Given the description of an element on the screen output the (x, y) to click on. 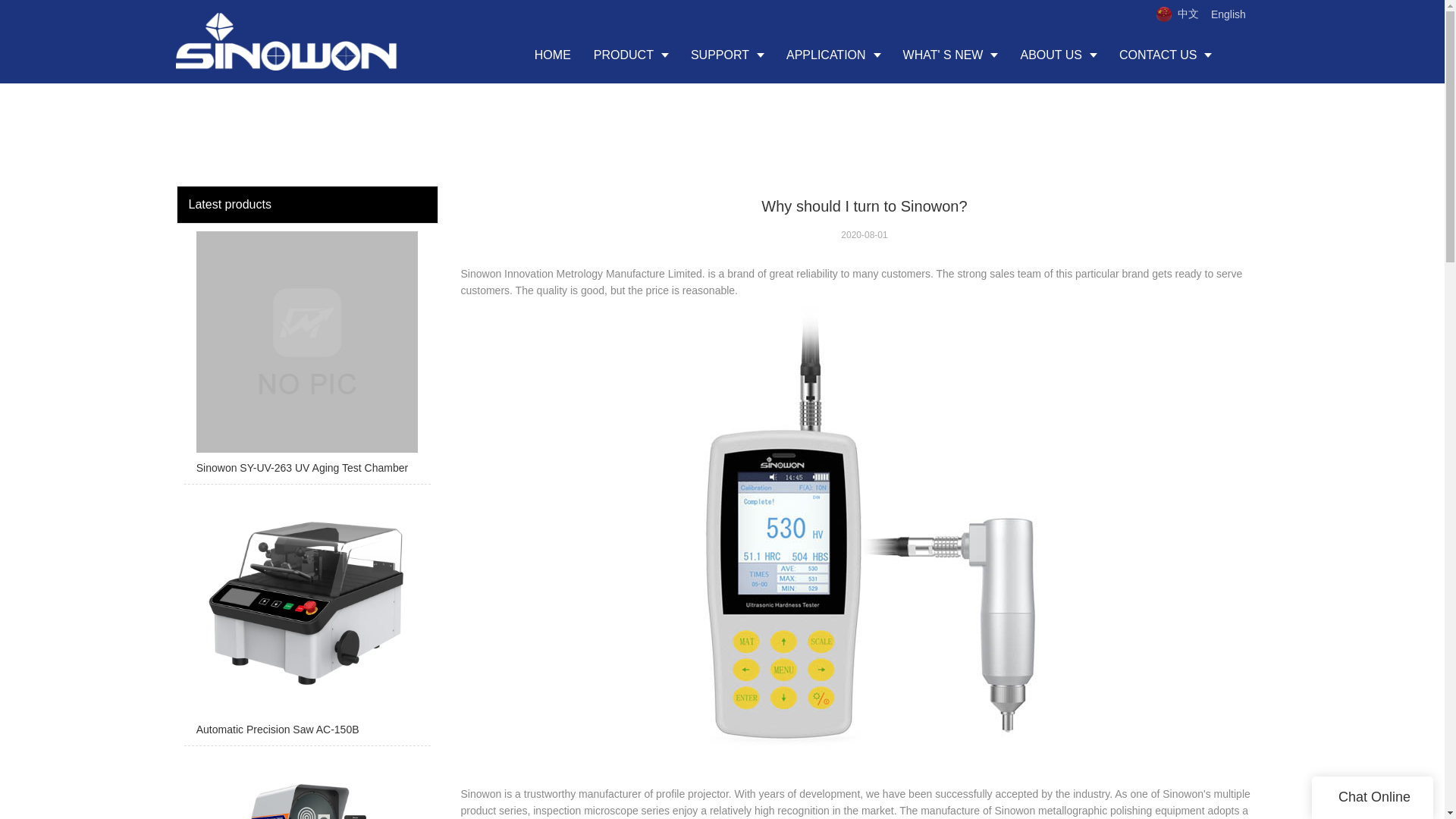
HOME (552, 55)
PRODUCT (630, 55)
SUPPORT (726, 55)
